Given the description of an element on the screen output the (x, y) to click on. 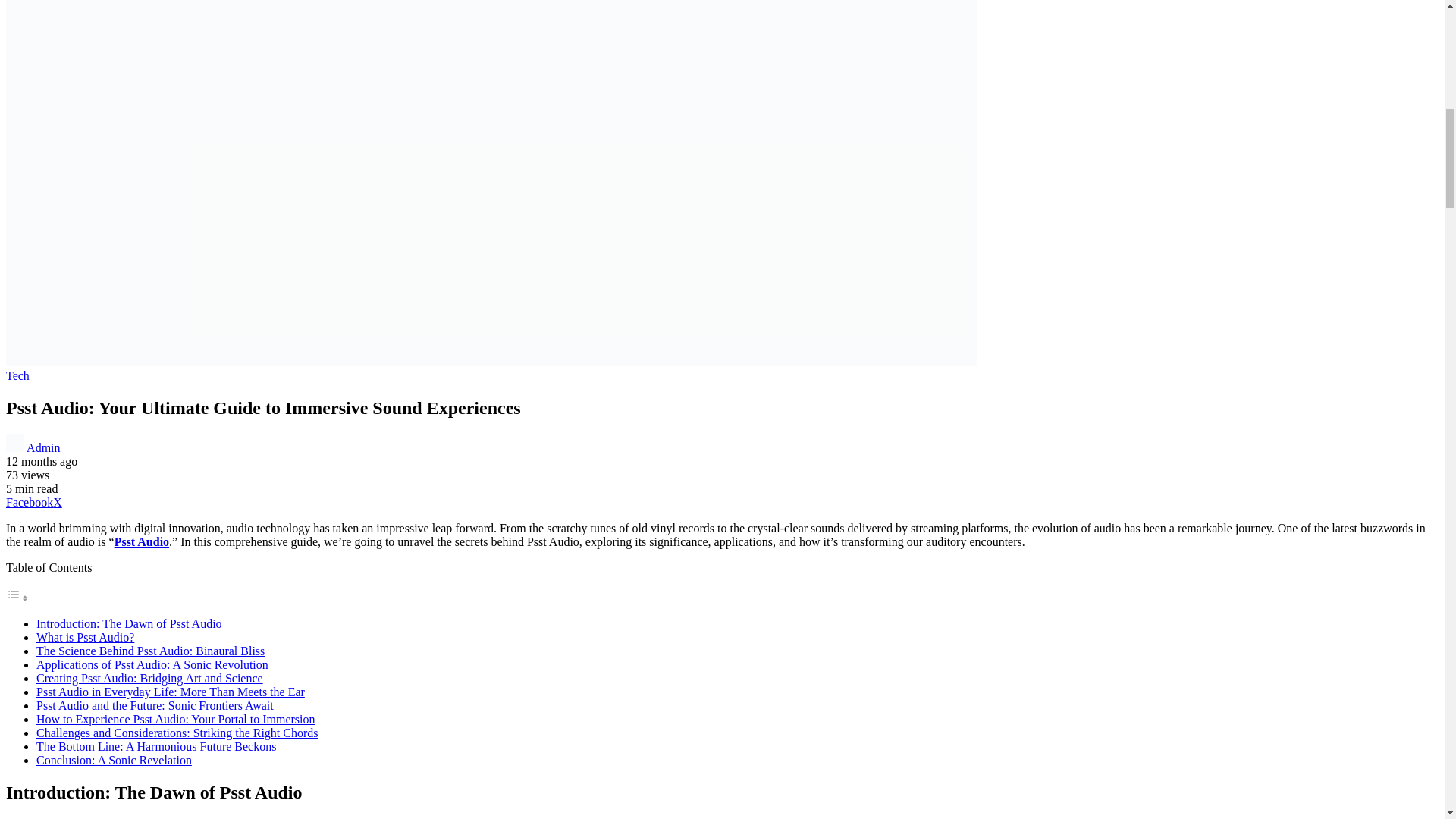
Conclusion: A Sonic Revelation (114, 759)
How to Experience Psst Audio: Your Portal to Immersion (175, 718)
The Bottom Line: A Harmonious Future Beckons (156, 746)
Creating Psst Audio: Bridging Art and Science (149, 677)
Psst Audio and the Future: Sonic Frontiers Await (154, 705)
Introduction: The Dawn of Psst Audio (129, 623)
Challenges and Considerations: Striking the Right Chords (177, 732)
The Science Behind Psst Audio: Binaural Bliss (150, 650)
Psst Audio in Everyday Life: More Than Meets the Ear (170, 691)
What is Psst Audio? (84, 636)
Applications of Psst Audio: A Sonic Revolution (151, 664)
